Given the description of an element on the screen output the (x, y) to click on. 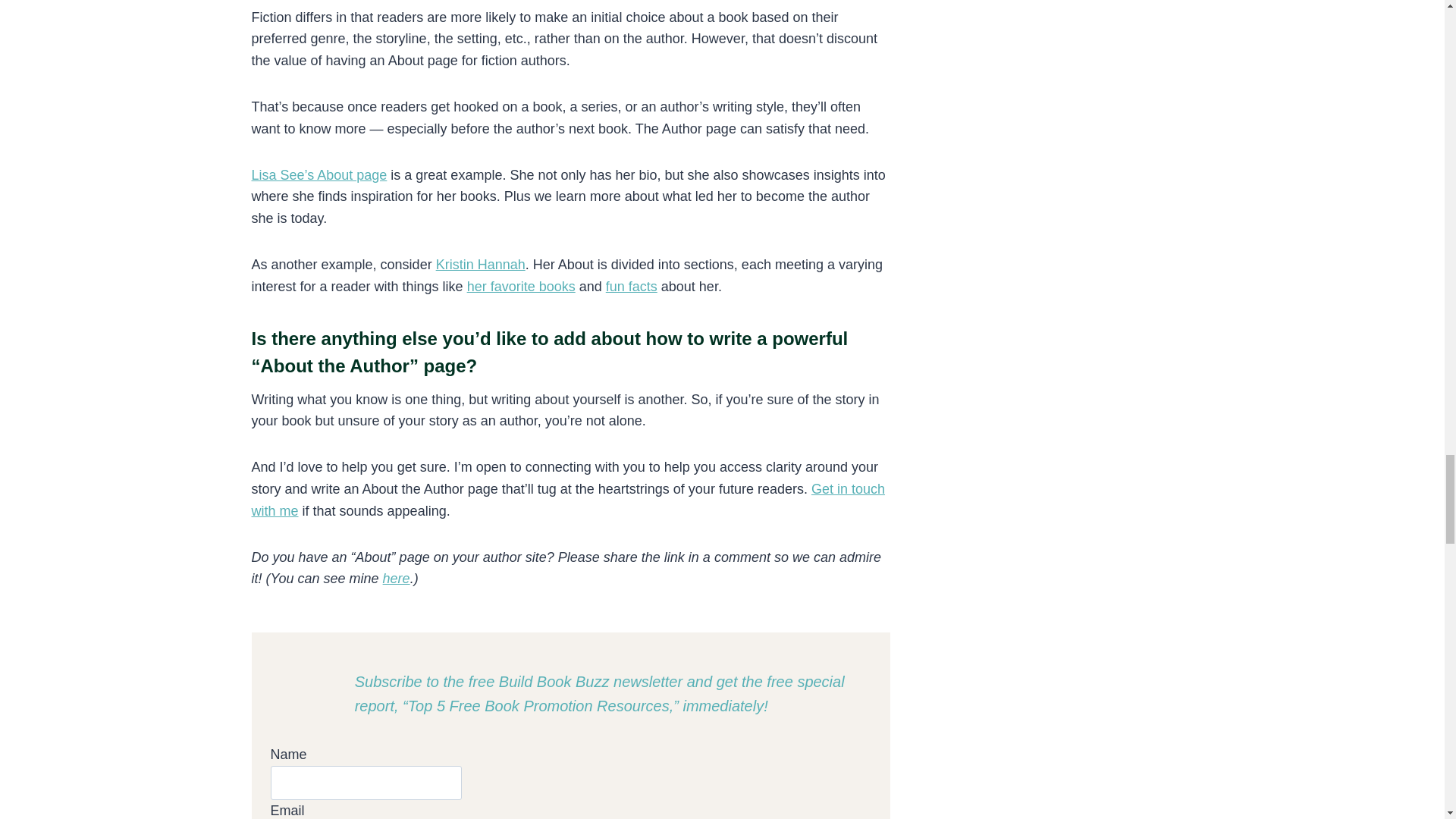
Get in touch with me (568, 499)
fun facts (631, 286)
Kristin Hannah (480, 264)
her favorite books (521, 286)
here (396, 578)
